Given the description of an element on the screen output the (x, y) to click on. 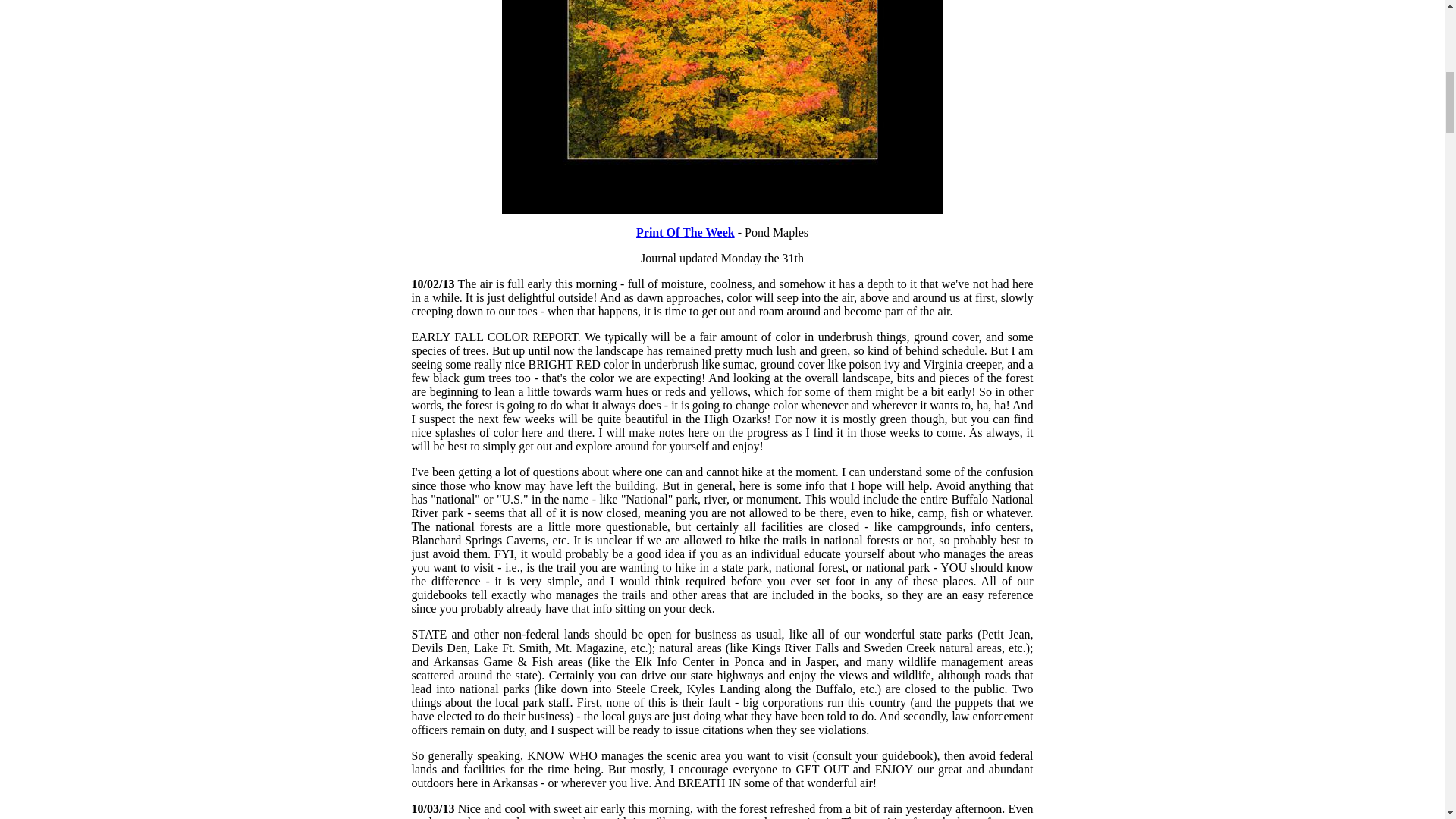
Print Of The Week (685, 232)
